Given the description of an element on the screen output the (x, y) to click on. 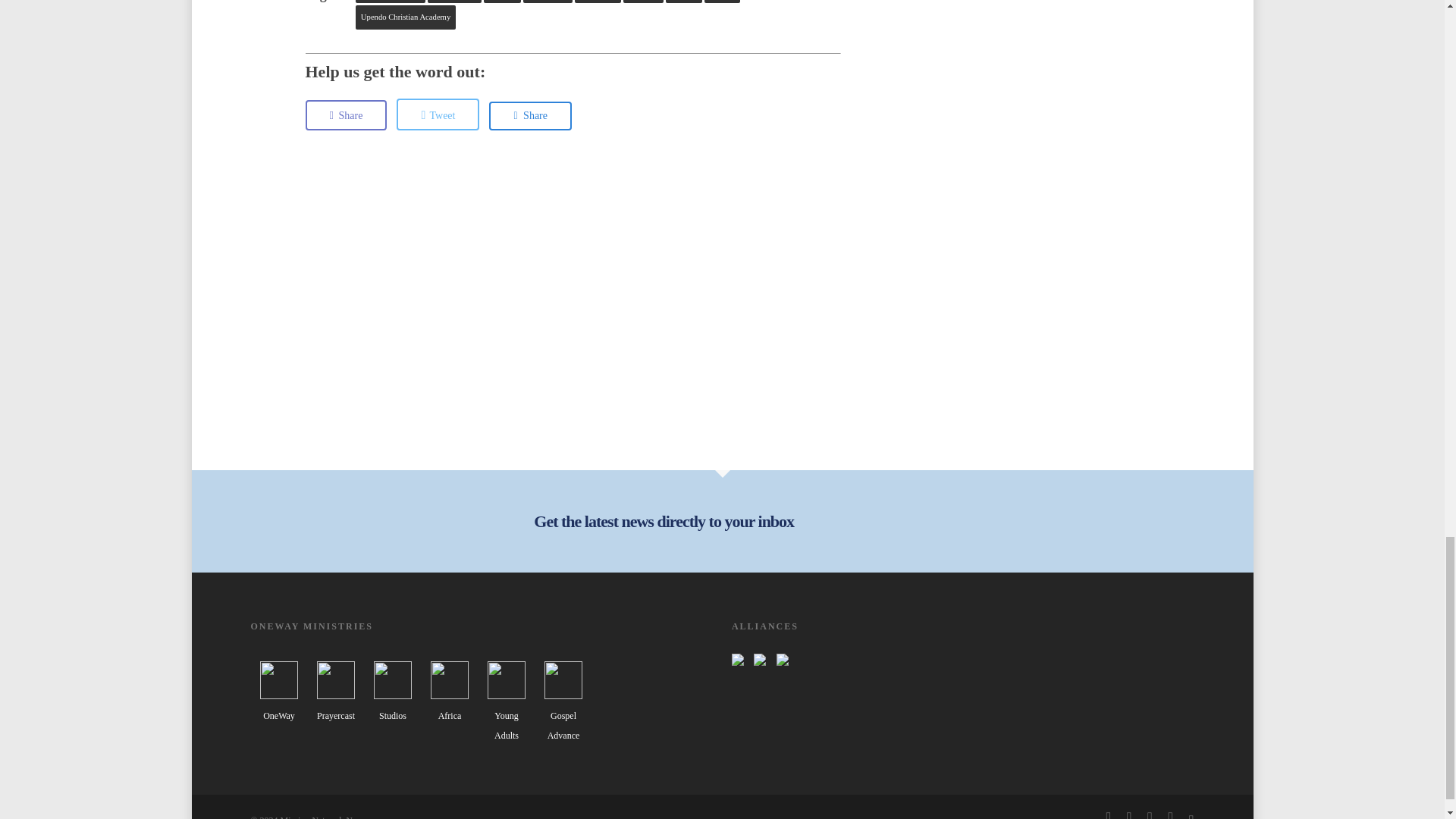
Camp El Har (454, 1)
Schools (683, 1)
Uganda (721, 1)
Kampala (642, 1)
Tweet this (437, 114)
Food Prices (547, 1)
Share this (530, 115)
Election (502, 1)
Share this (345, 114)
Amg International (390, 1)
Fuel Prices (598, 1)
